Given the description of an element on the screen output the (x, y) to click on. 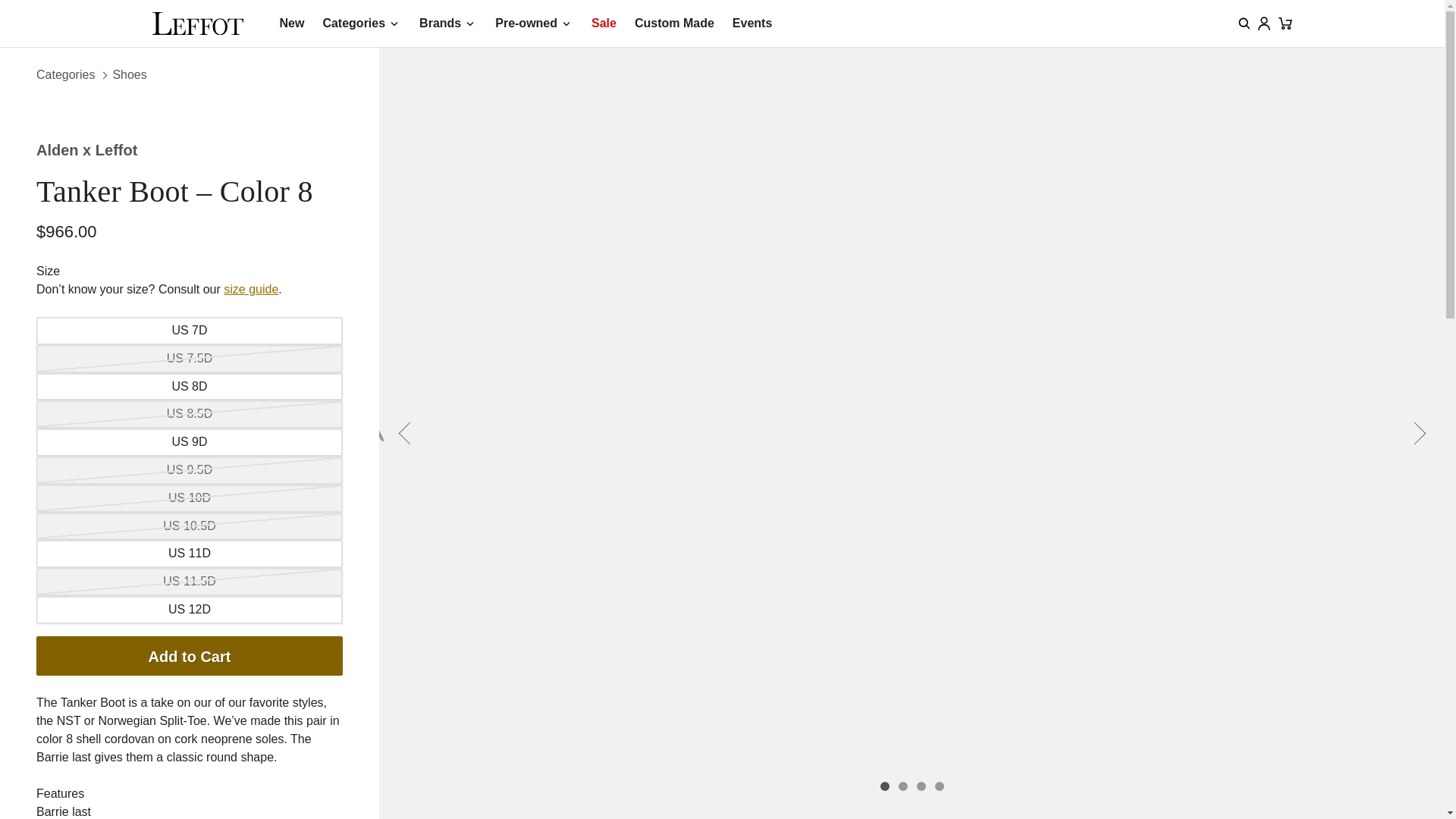
Pre-owned (534, 23)
Leffot logo (197, 23)
New (291, 23)
Cart (1284, 22)
Categories (361, 23)
